Given the description of an element on the screen output the (x, y) to click on. 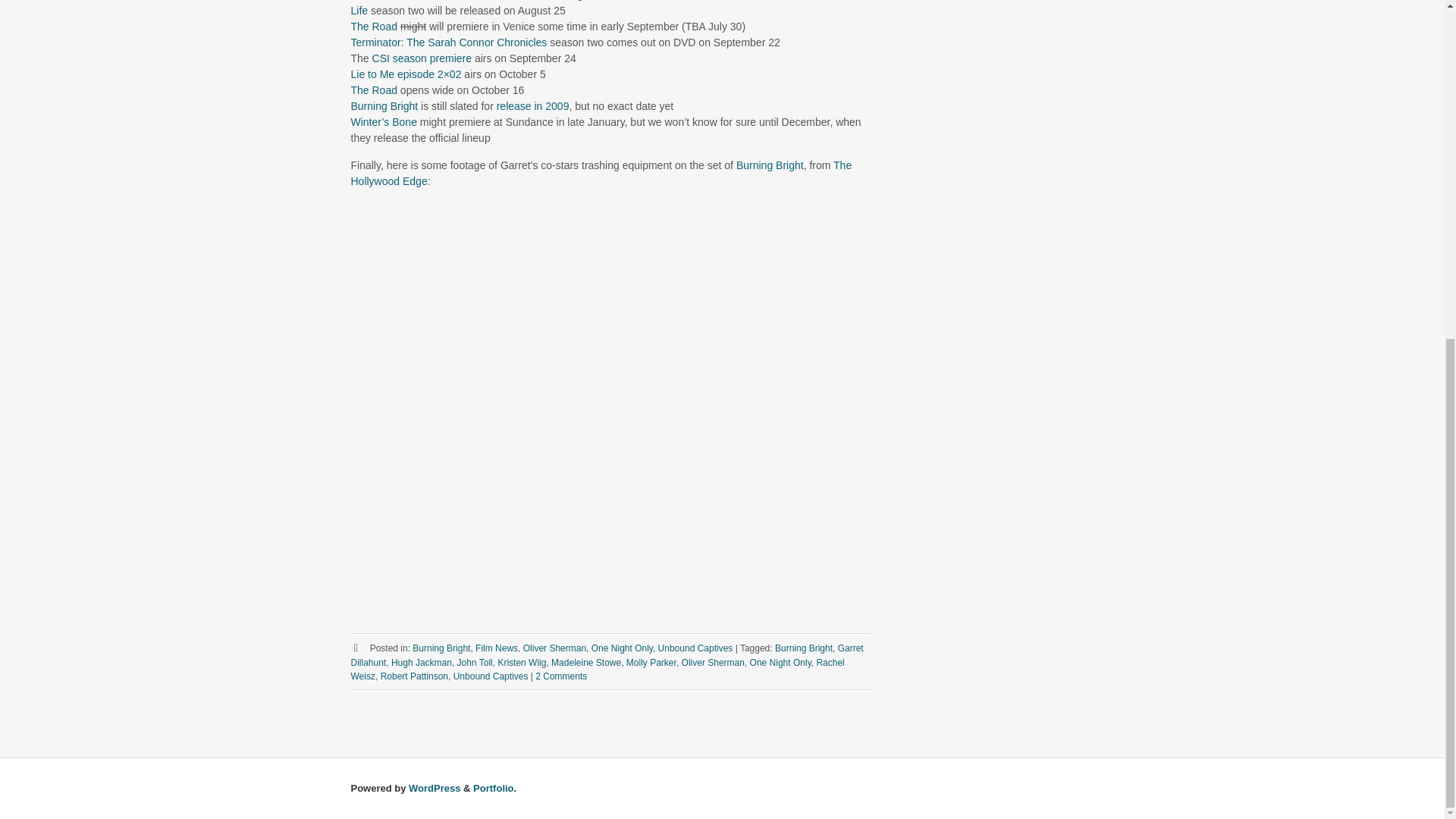
A Semantic Personal Publishing Platform (434, 787)
